Given the description of an element on the screen output the (x, y) to click on. 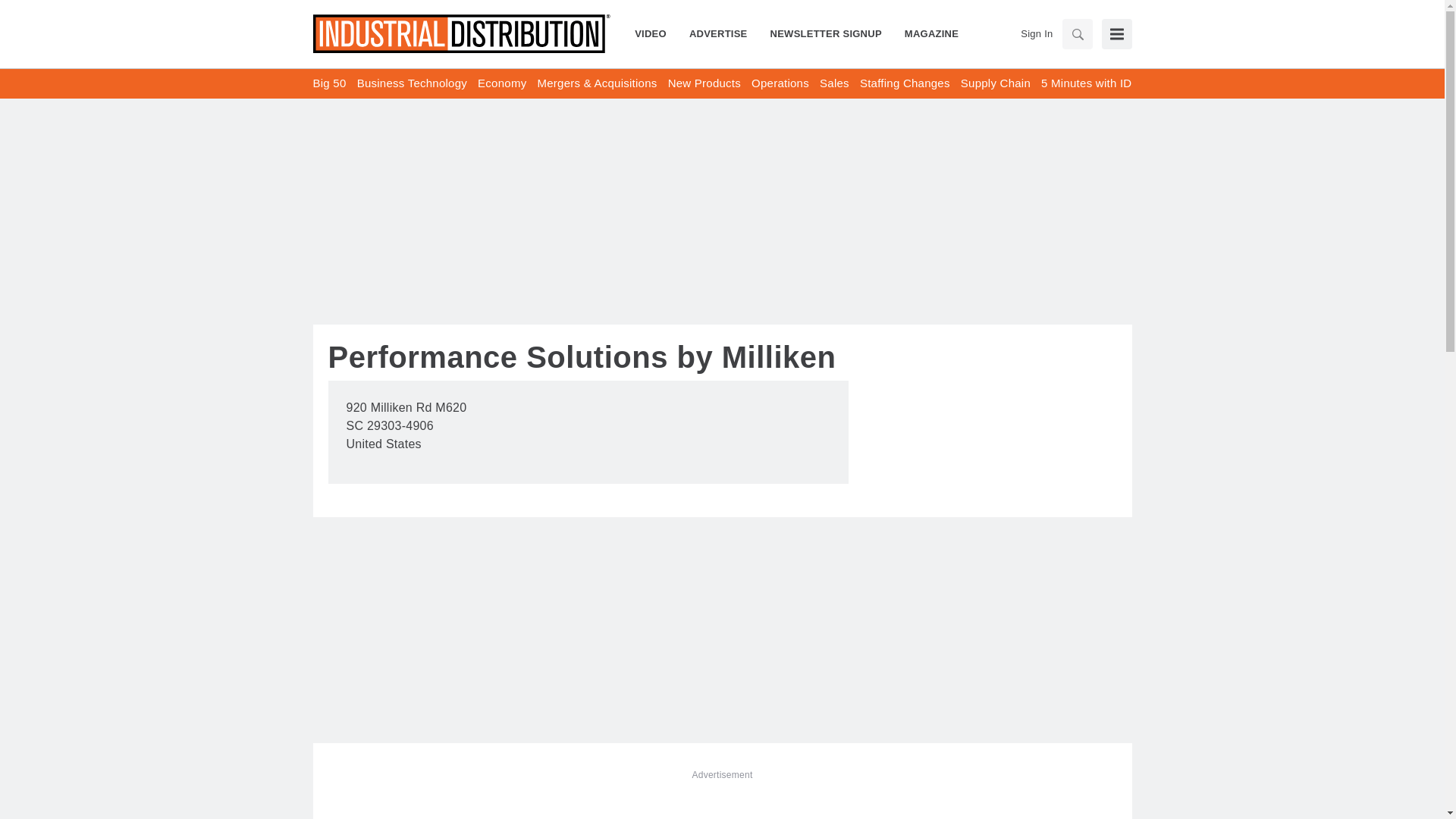
Staffing Changes (905, 83)
Business Technology (411, 83)
5 Minutes with ID (1086, 83)
Economy (501, 83)
Operations (780, 83)
NEWSLETTER SIGNUP (825, 33)
ADVERTISE (718, 33)
Sign In (1036, 33)
VIDEO (656, 33)
New Products (704, 83)
MAGAZINE (925, 33)
Sales (833, 83)
Supply Chain (995, 83)
Big 50 (329, 83)
